Given the description of an element on the screen output the (x, y) to click on. 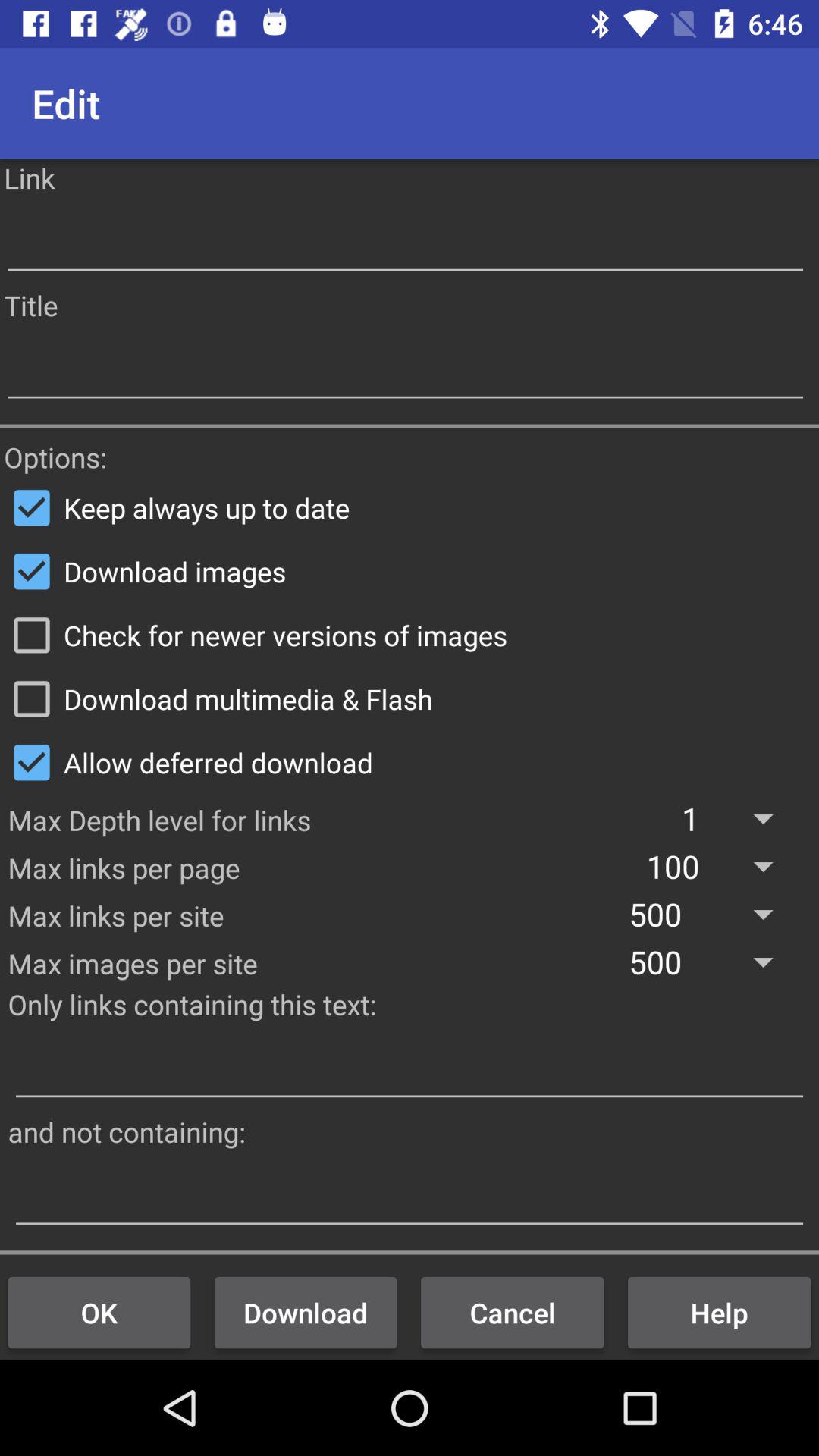
turn off the allow deferred download checkbox (409, 762)
